Given the description of an element on the screen output the (x, y) to click on. 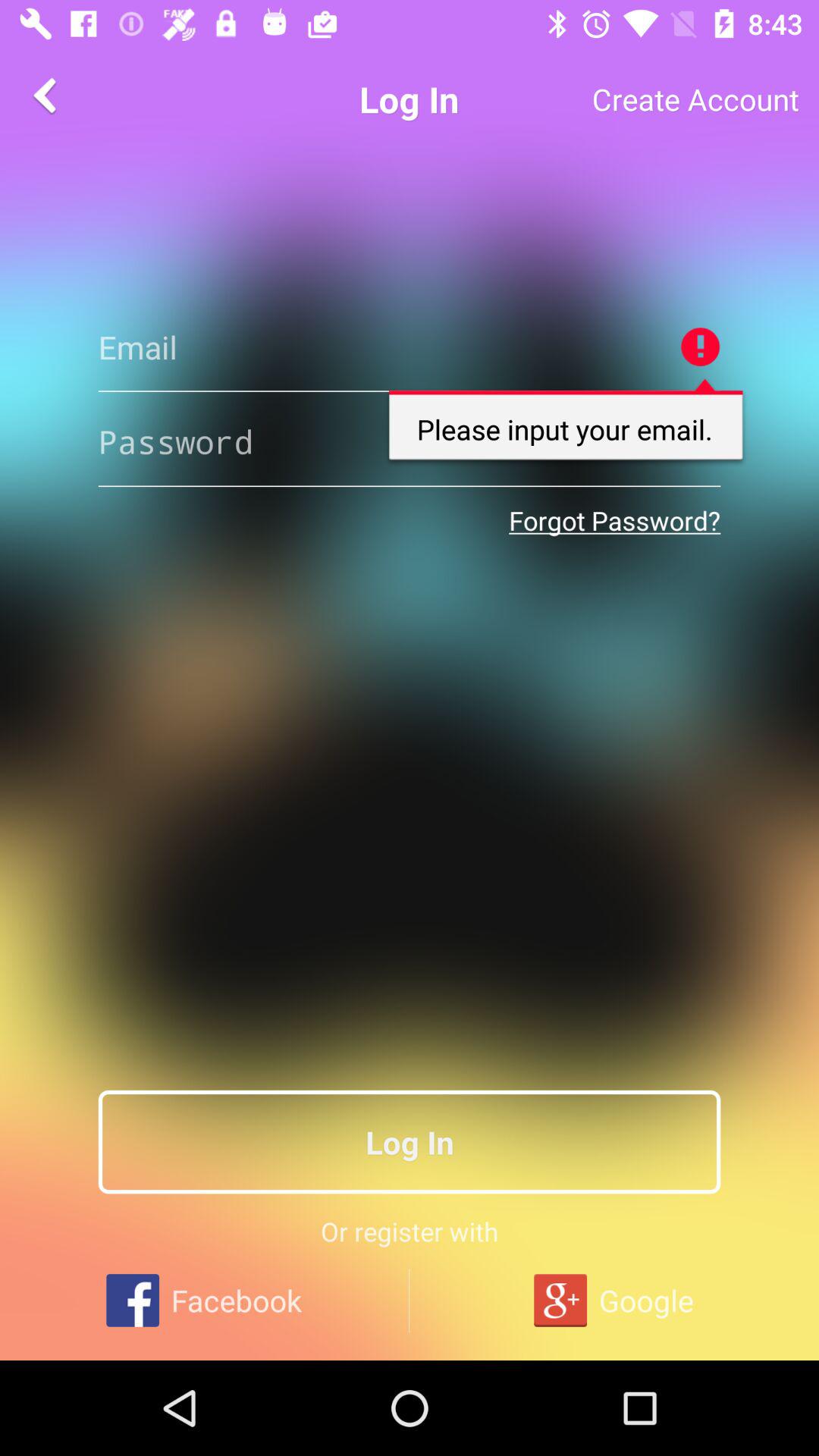
enter your email (409, 441)
